Given the description of an element on the screen output the (x, y) to click on. 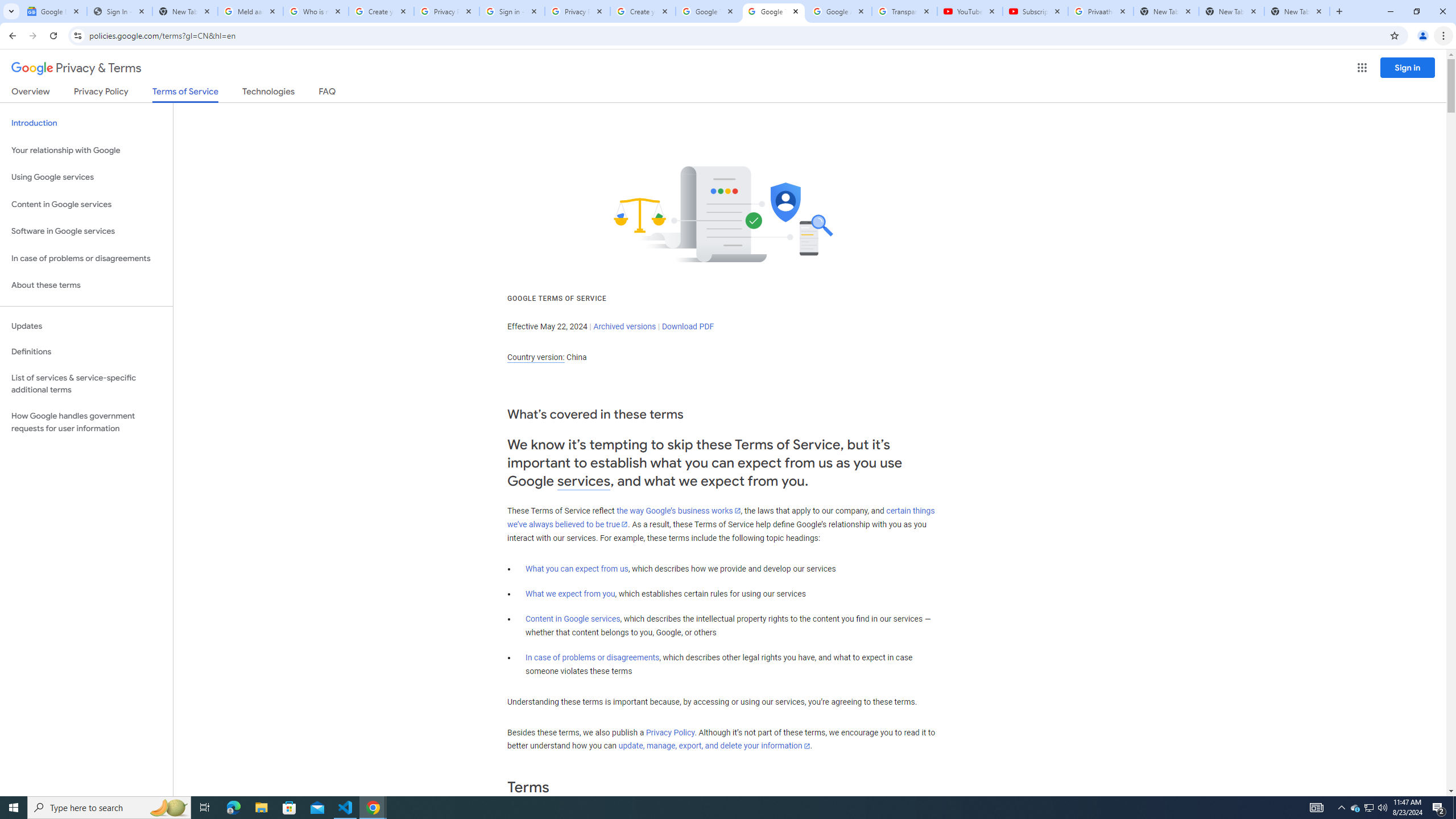
About these terms (86, 284)
Download PDF (687, 326)
Using Google services (86, 176)
Create your Google Account (643, 11)
Definitions (86, 352)
Sign in - Google Accounts (512, 11)
Archived versions (624, 326)
Who is my administrator? - Google Account Help (315, 11)
